Given the description of an element on the screen output the (x, y) to click on. 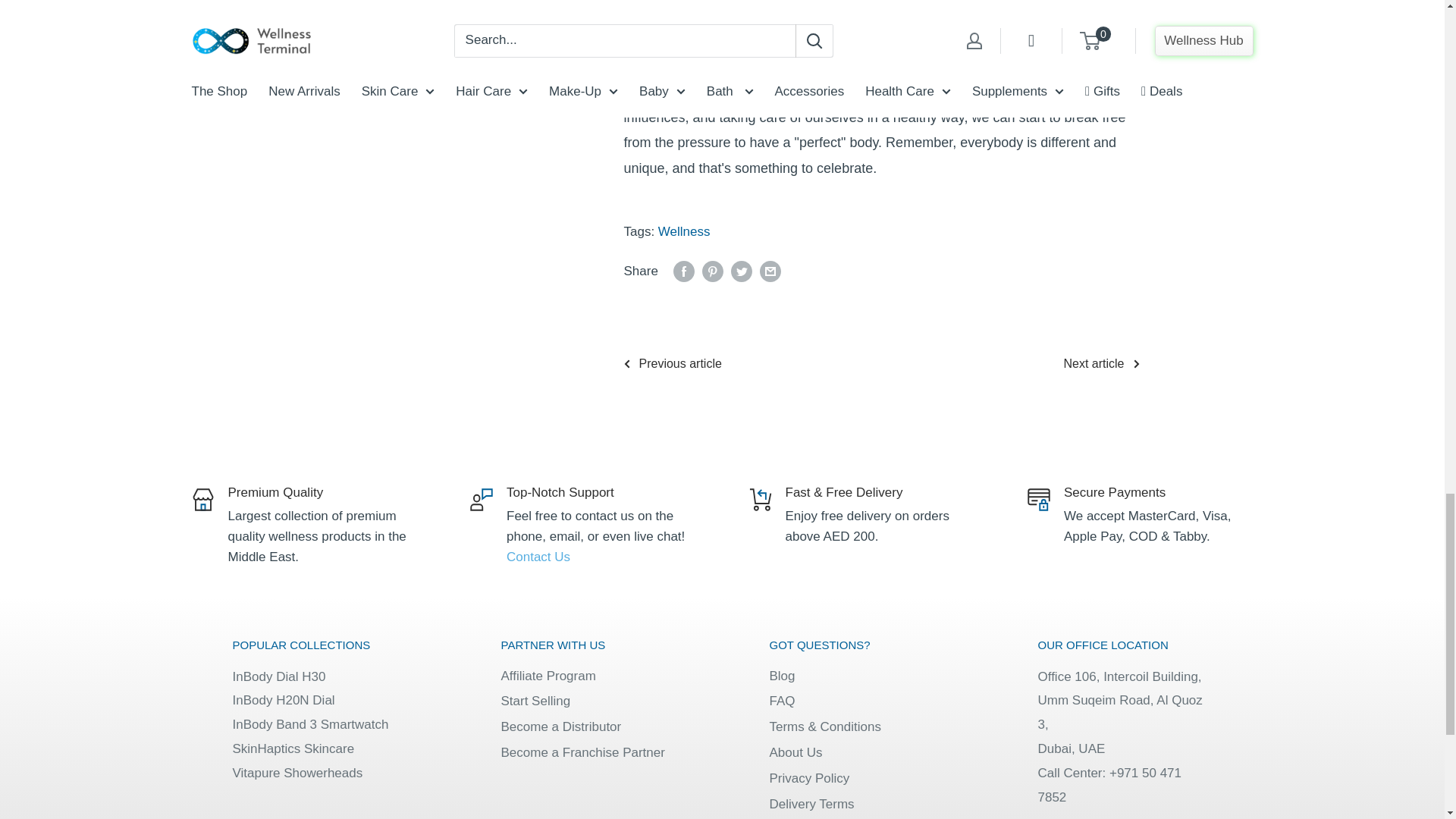
Transform Your Life with Vitapure (296, 772)
InBody Band 3 Smartwatch (309, 724)
InBody Dial H30 (277, 676)
Contact (538, 556)
Call Us (1108, 784)
